Given the description of an element on the screen output the (x, y) to click on. 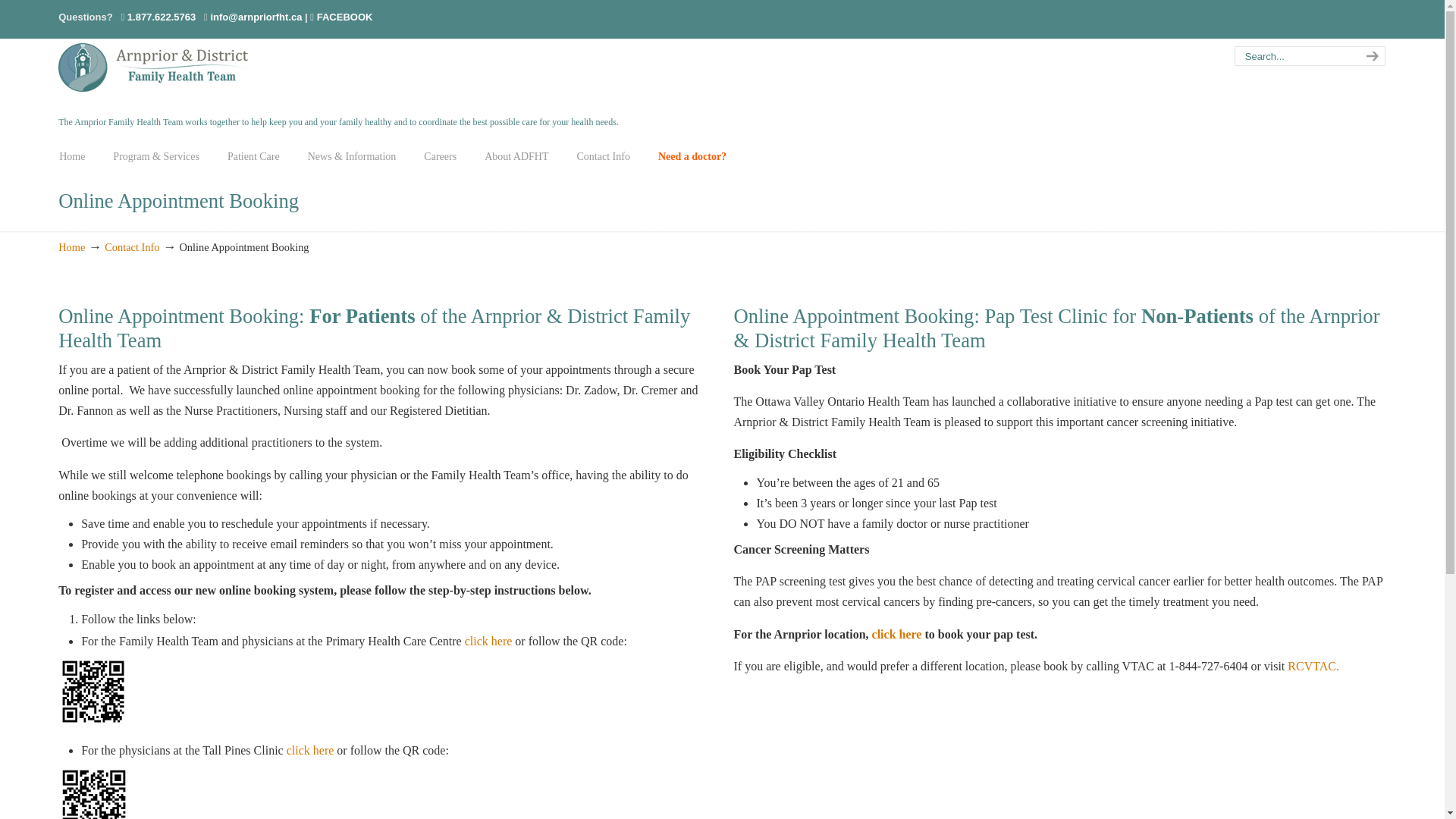
Facebook (341, 16)
Search... (1294, 55)
FACEBOOK (341, 16)
click here (896, 634)
1.877.622.5763 (161, 16)
RCVTAC. (1313, 666)
Home (71, 156)
Contact Info (603, 156)
Careers (440, 156)
click here (310, 749)
About ADFHT (515, 156)
Contact Info (131, 246)
search (1370, 55)
Need a doctor? (692, 156)
Home (71, 246)
